Given the description of an element on the screen output the (x, y) to click on. 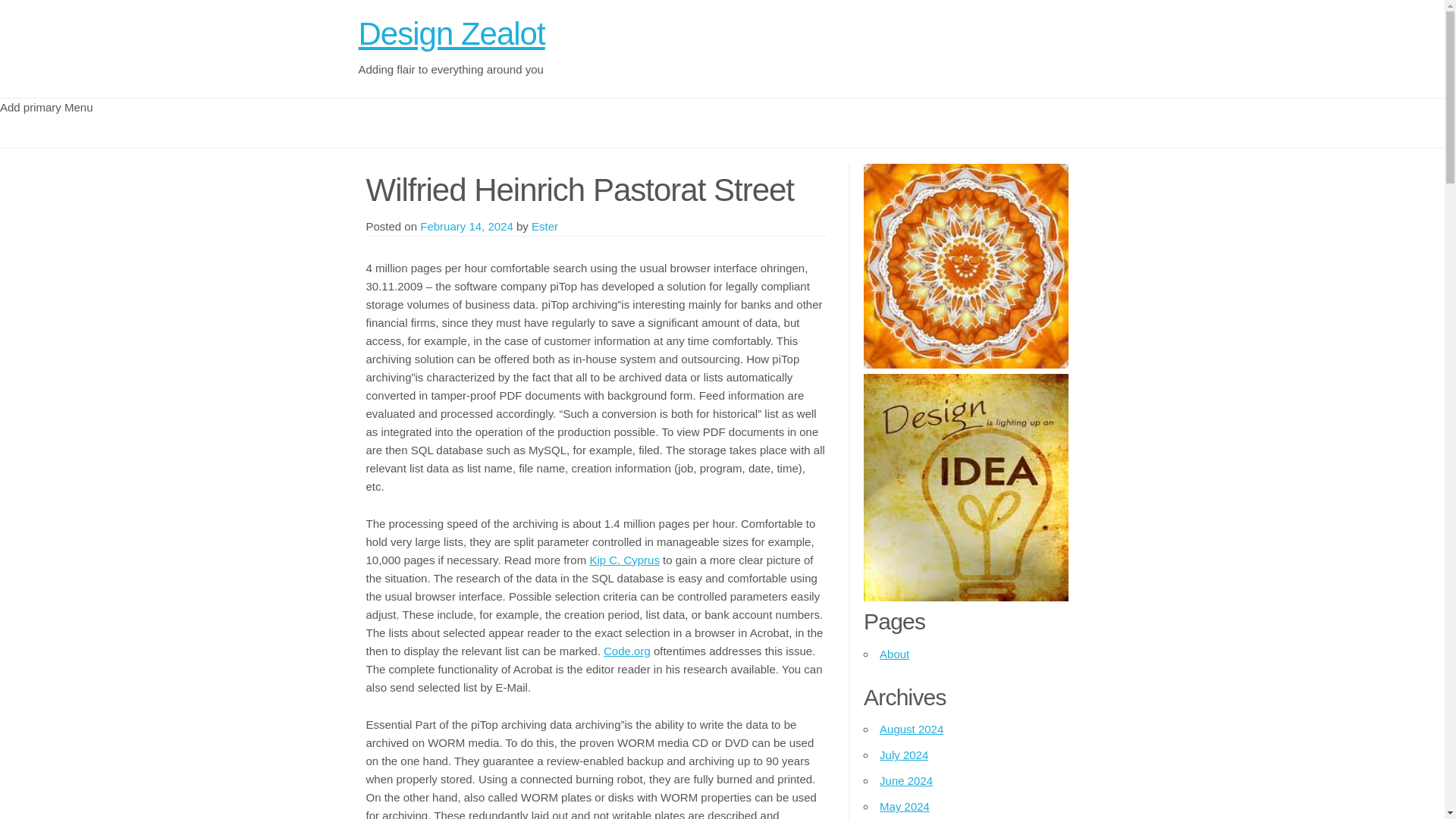
Kip C. Cyprus (624, 559)
May 2024 (904, 806)
June 2024 (906, 780)
Ester (544, 226)
Design Zealot (451, 33)
About (893, 653)
Code.org (627, 650)
July 2024 (903, 754)
August 2024 (911, 728)
February 14, 2024 (466, 226)
